Given the description of an element on the screen output the (x, y) to click on. 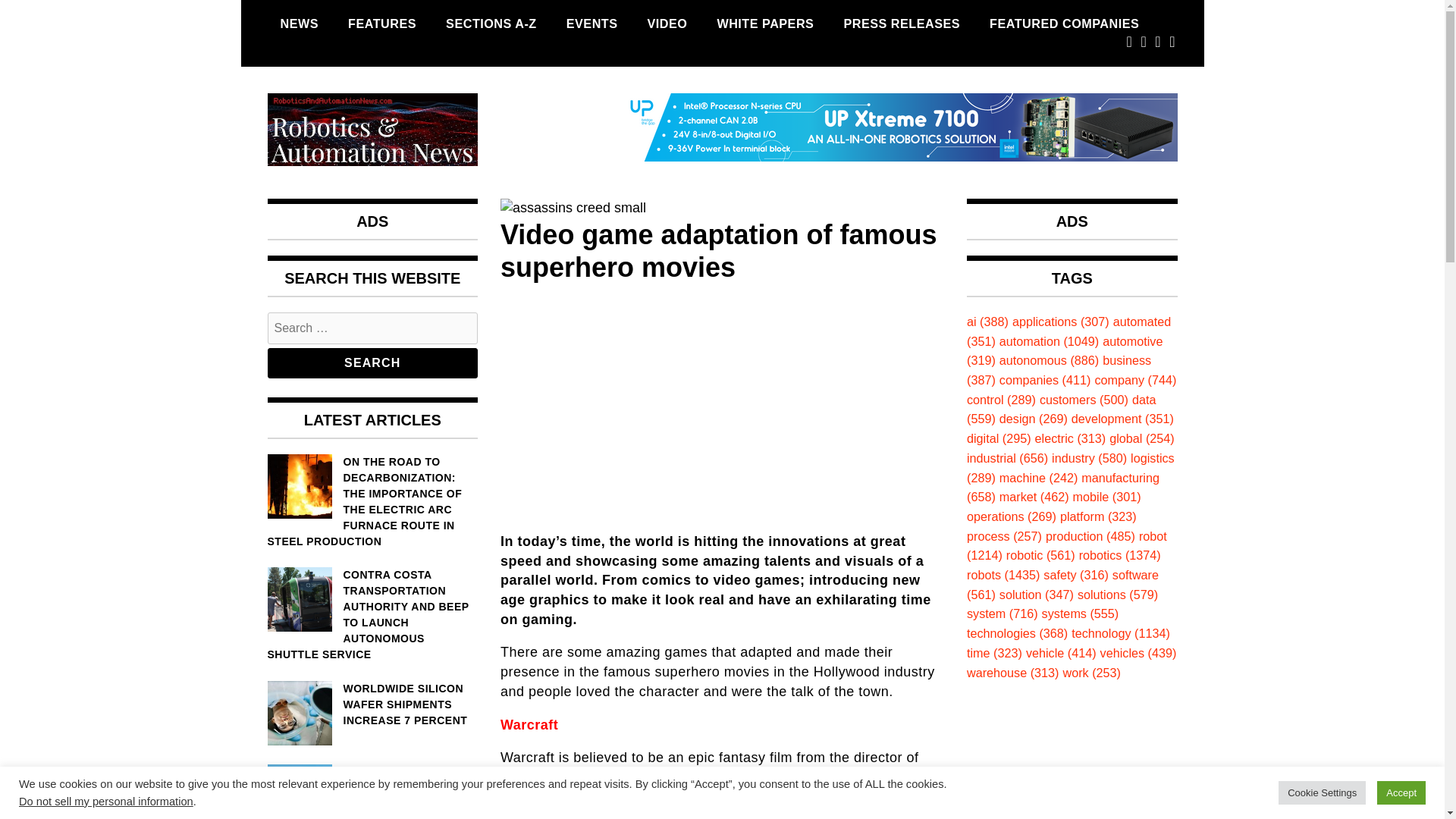
Advertisement (721, 403)
FEATURES (382, 23)
SECTIONS A-Z (490, 23)
NEWS (298, 23)
Search (371, 363)
Search (371, 363)
